Given the description of an element on the screen output the (x, y) to click on. 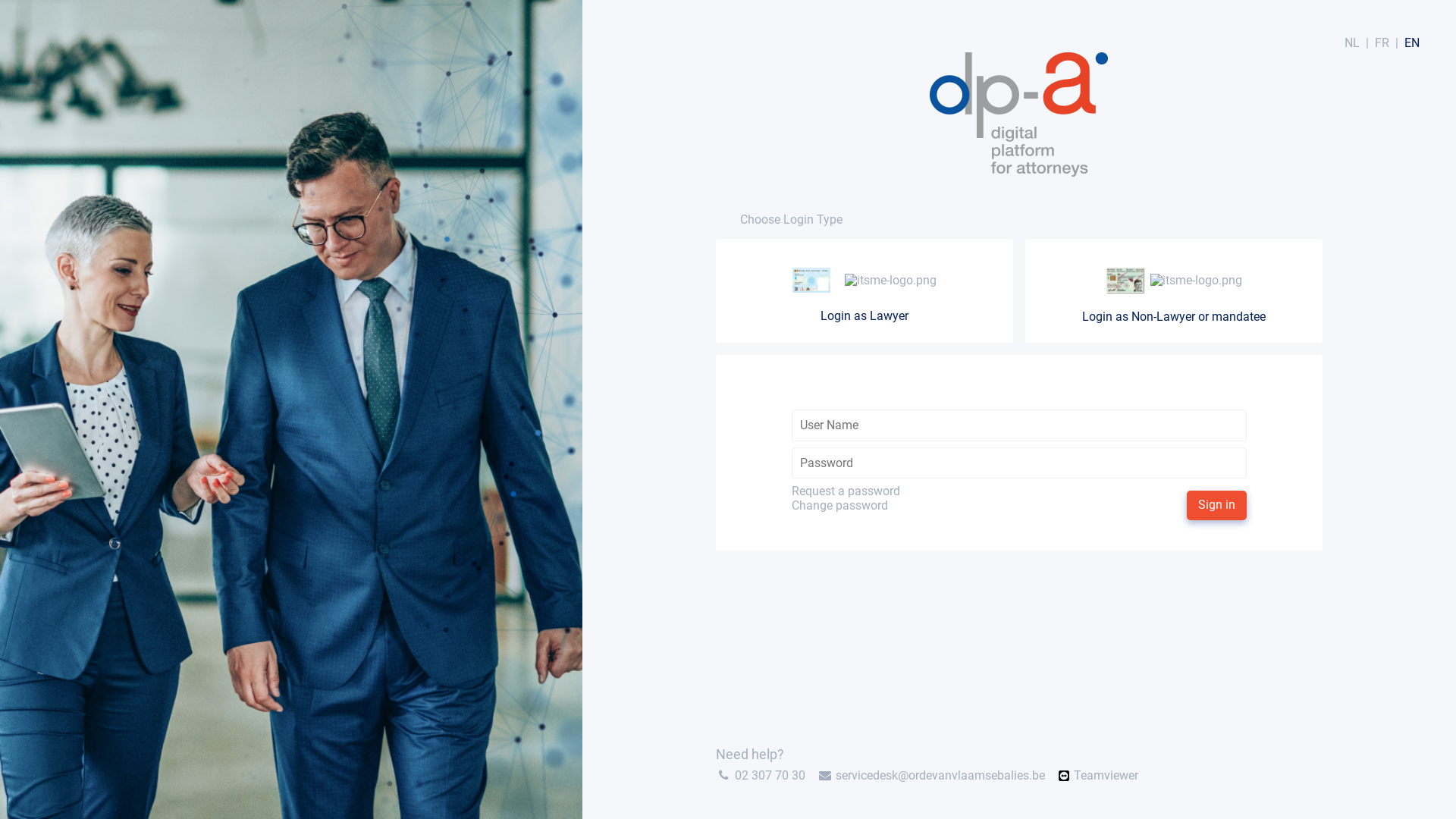
Teamviewer Element type: text (1105, 775)
Request a password Element type: text (845, 491)
FAS Element type: hover (1173, 280)
Change password Element type: text (845, 505)
ITSME Element type: hover (890, 279)
Sign in Element type: text (1216, 504)
Lawyer Card Element type: hover (810, 280)
02 307 70 30 Element type: text (769, 775)
servicedesk@ordevanvlaamsebalies.be Element type: text (939, 775)
